Given the description of an element on the screen output the (x, y) to click on. 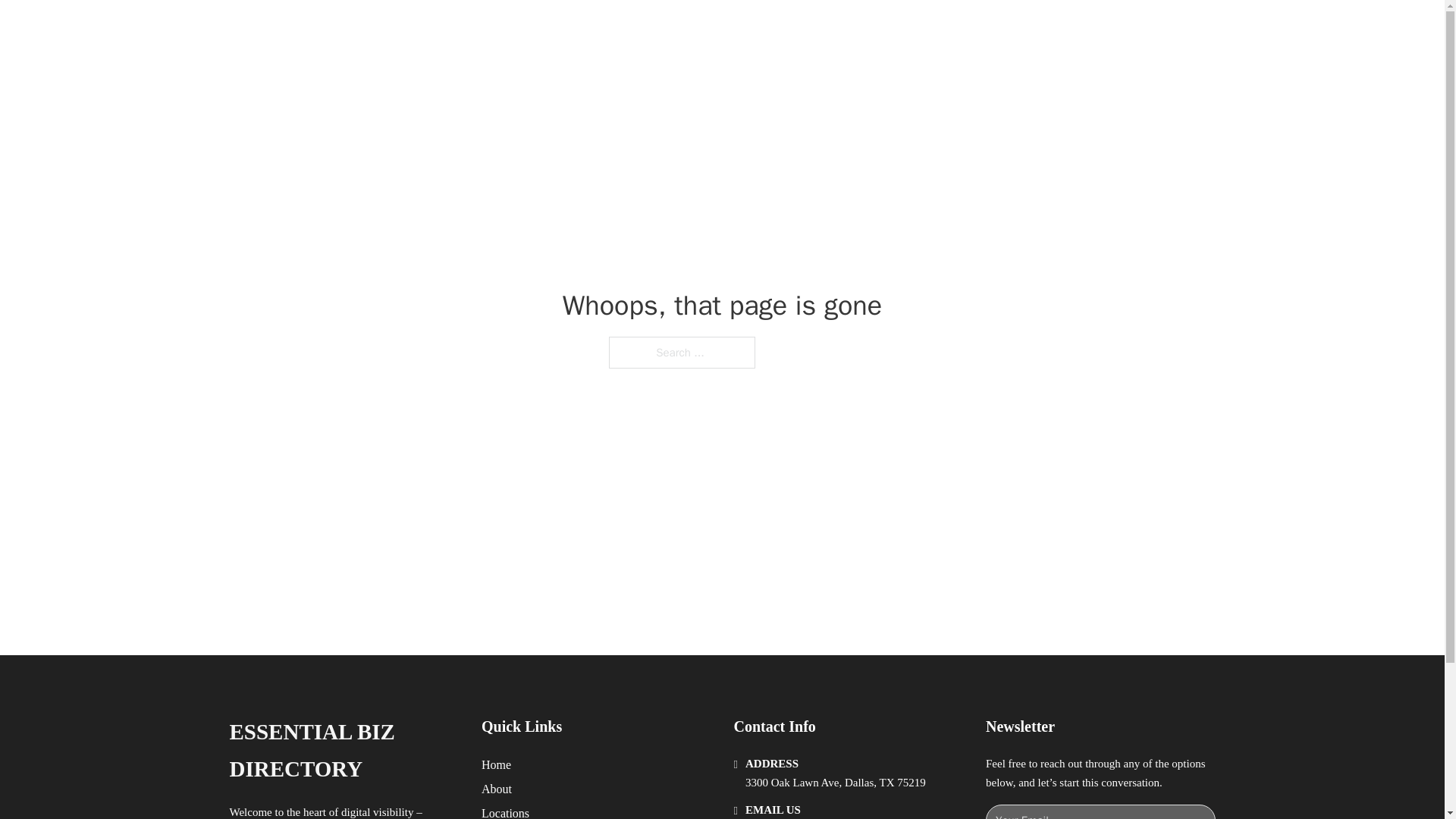
About (496, 788)
Locations (505, 811)
Home (496, 764)
HOME (919, 29)
ESSENTIAL BIZ DIRECTORY (343, 750)
LOCATIONS (990, 29)
